Given the description of an element on the screen output the (x, y) to click on. 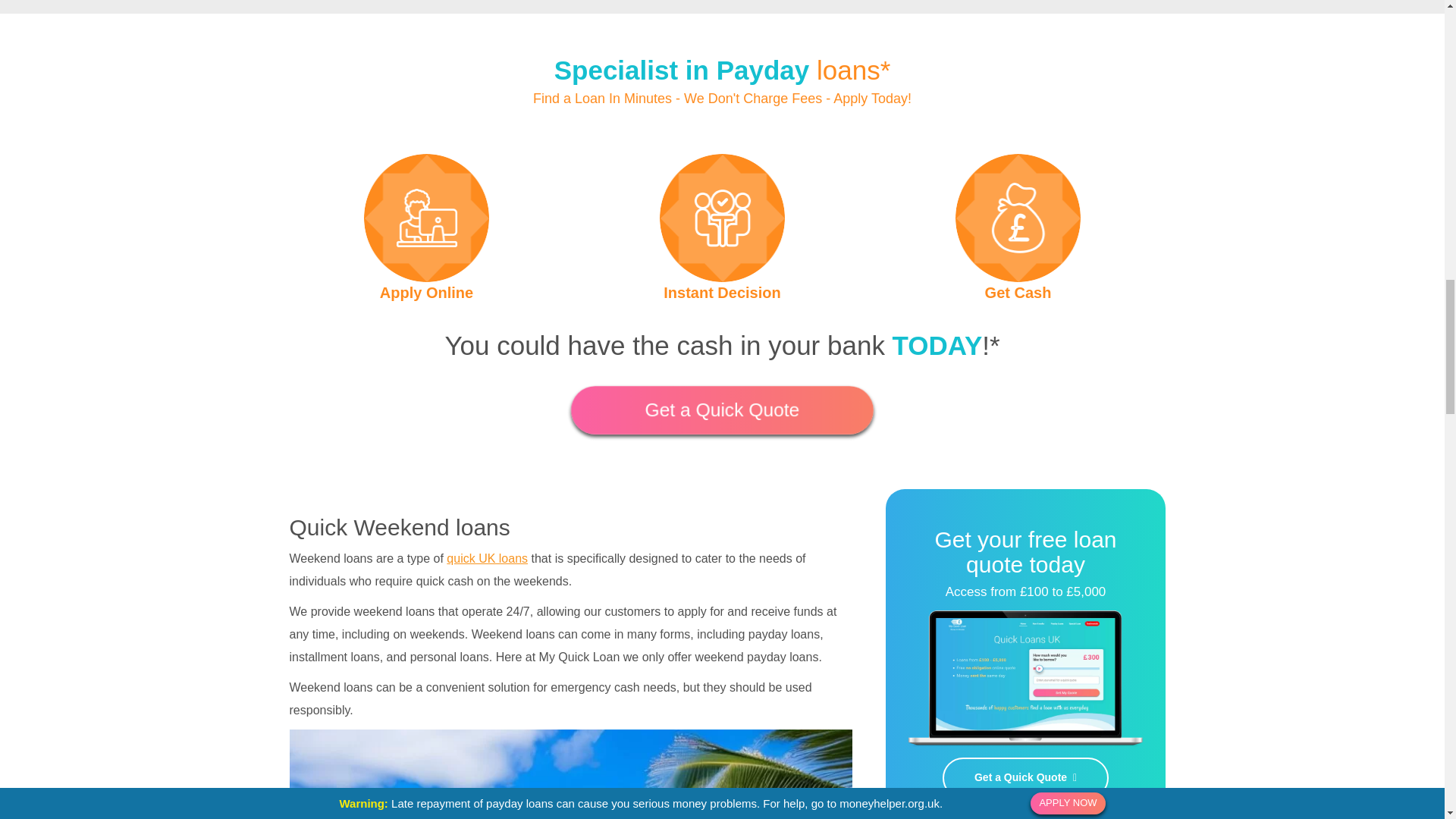
quick UK loans (486, 558)
Get a Quick Quote (718, 409)
Get a Quick Quote   (1025, 777)
